Given the description of an element on the screen output the (x, y) to click on. 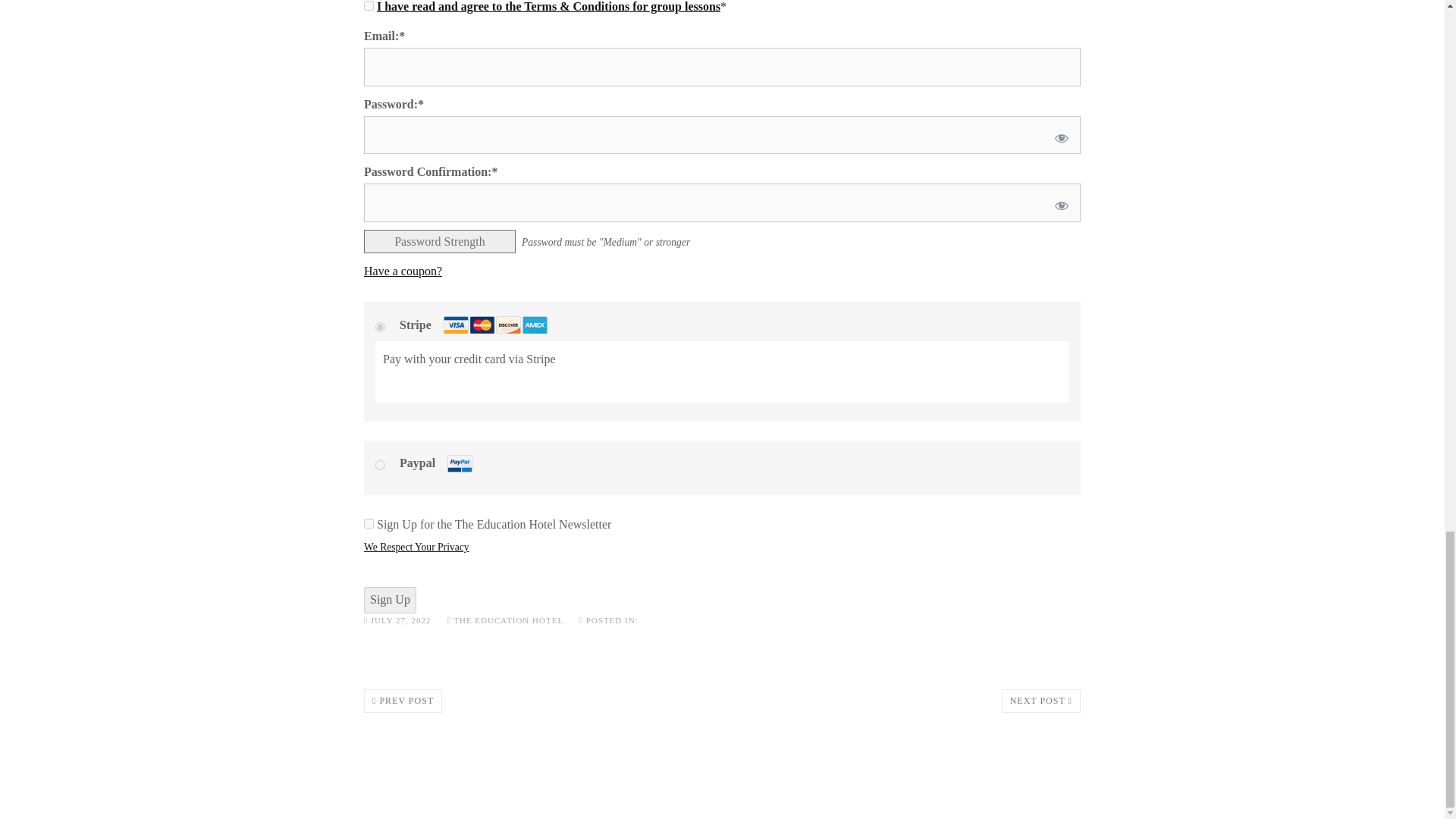
r5pi2v-2yd (380, 465)
Sign Up (390, 600)
on (369, 523)
on (369, 5)
r5phyb-5l4 (380, 327)
